Given the description of an element on the screen output the (x, y) to click on. 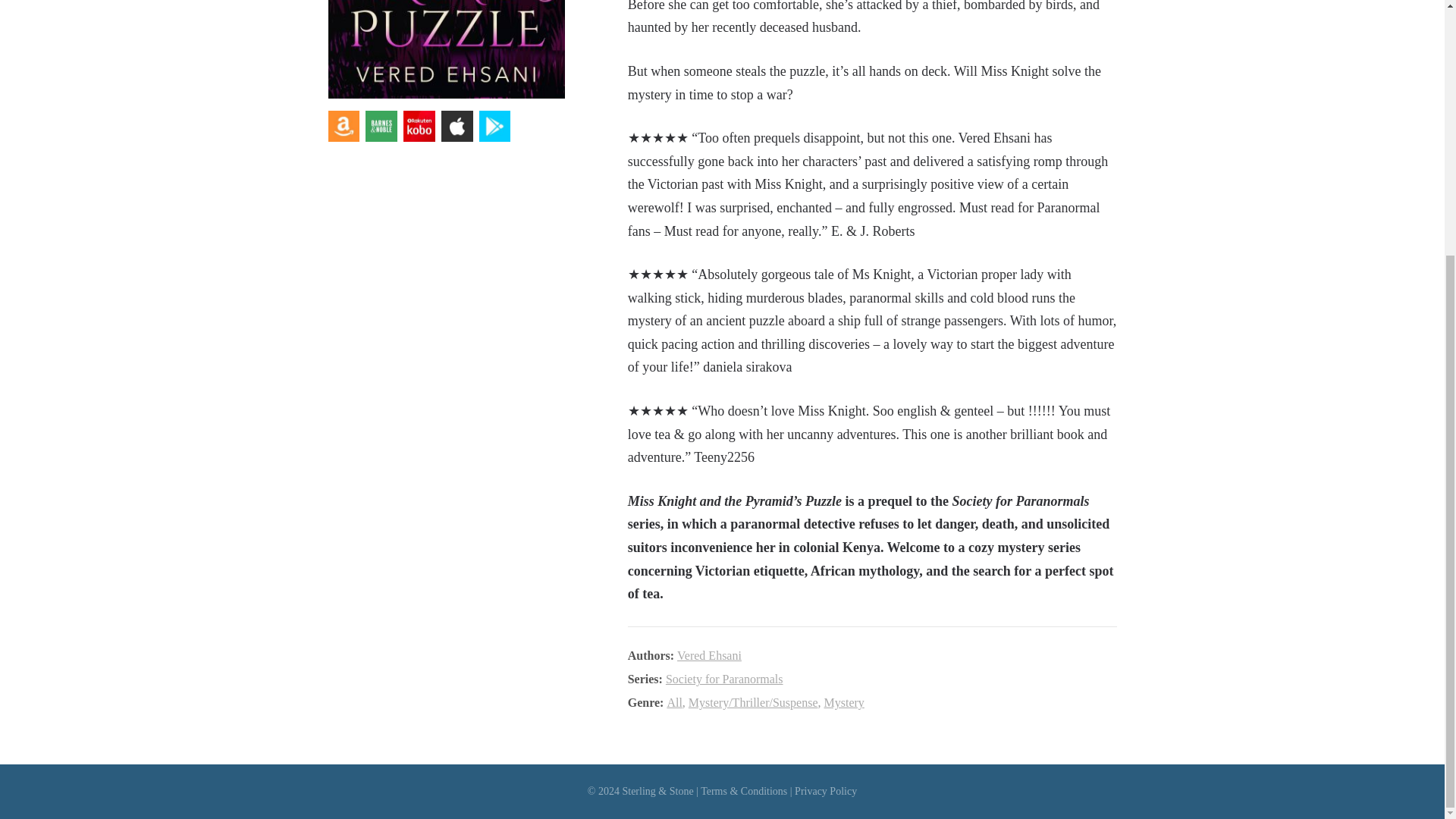
Vered Ehsani (709, 655)
Mystery (843, 702)
Society for Paranormals (724, 678)
Privacy Policy (825, 790)
All (673, 702)
